Given the description of an element on the screen output the (x, y) to click on. 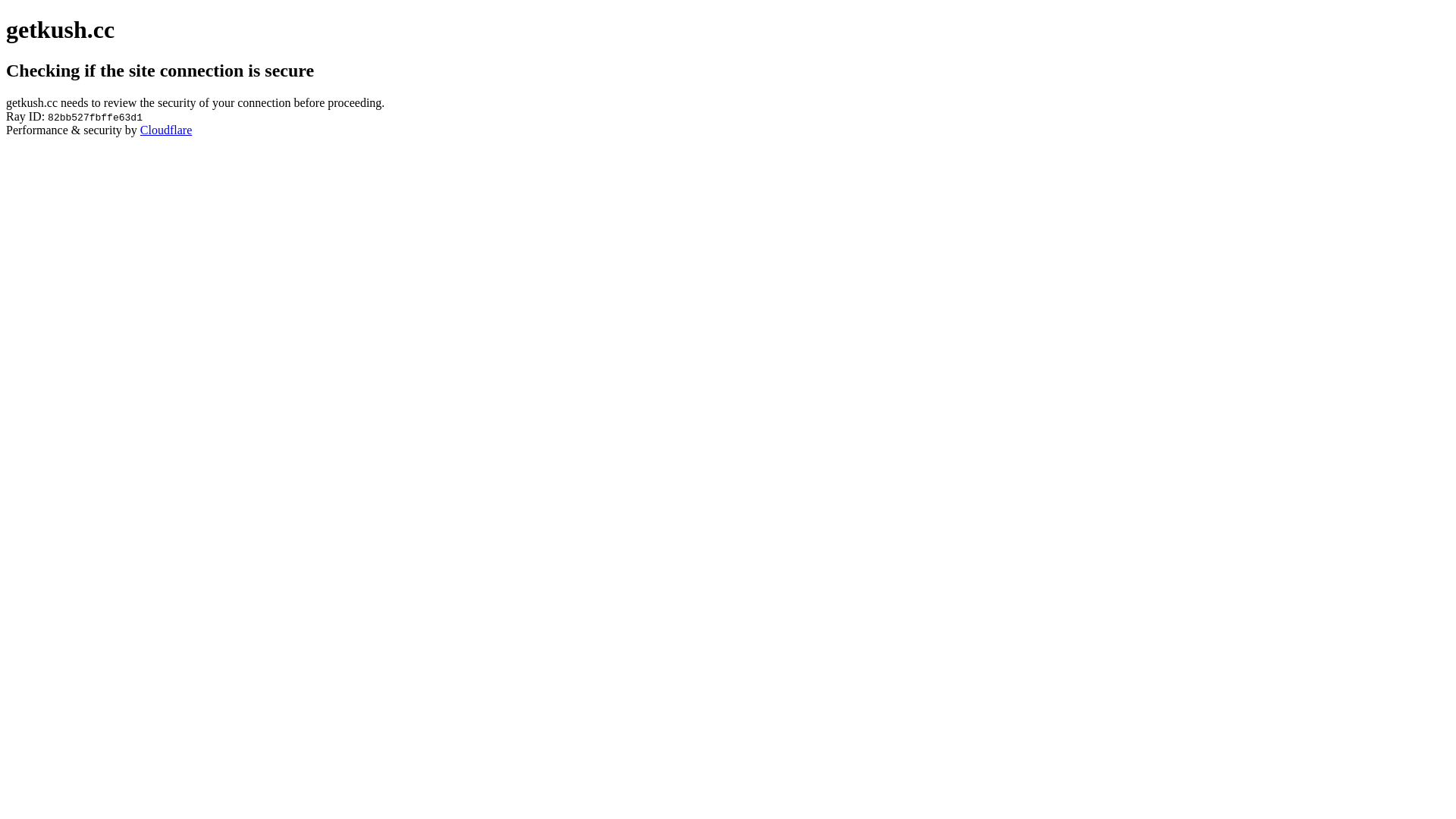
Cloudflare Element type: text (165, 129)
